Given the description of an element on the screen output the (x, y) to click on. 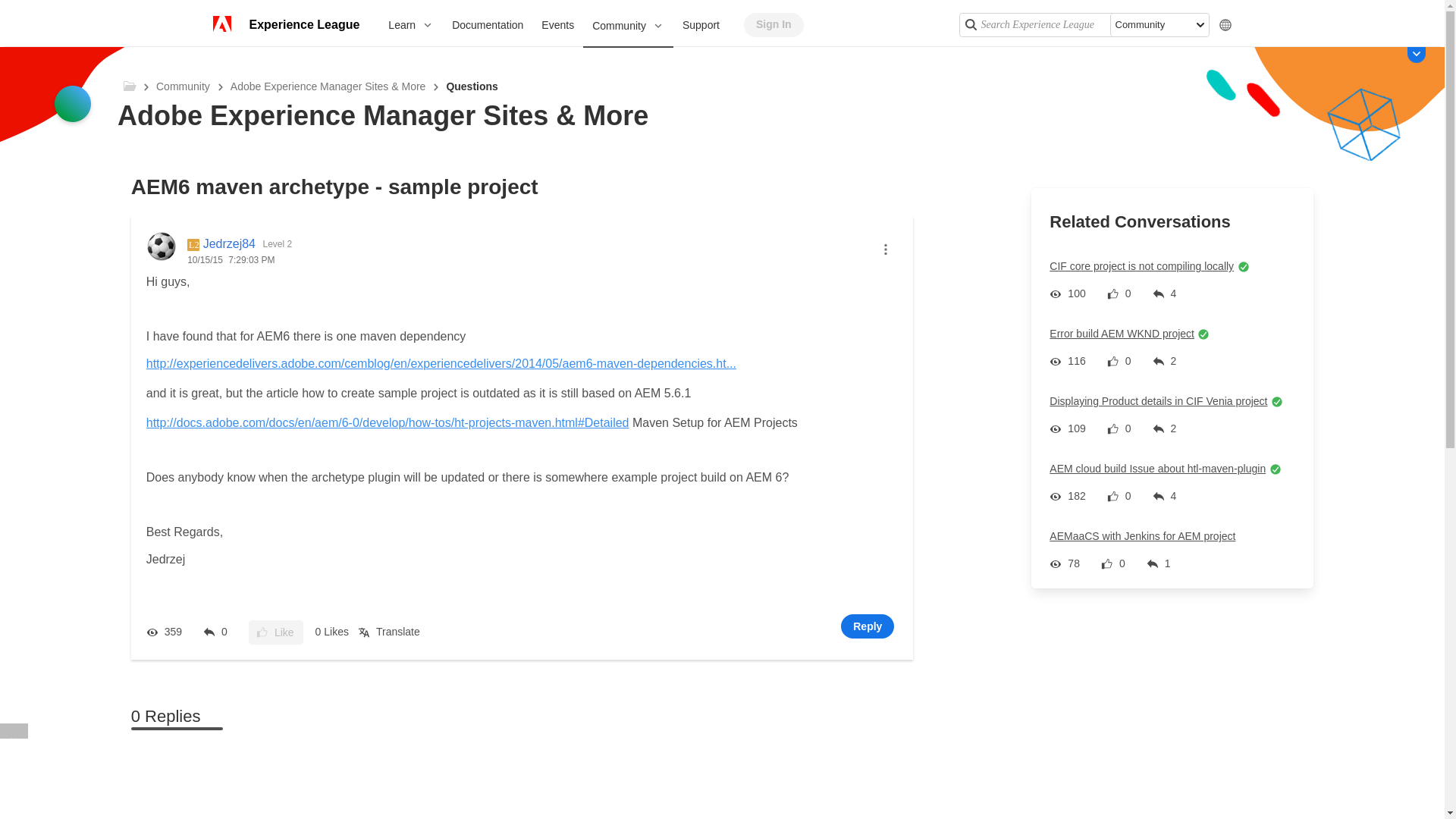
Experience League (304, 24)
Learn (410, 24)
Experience League (304, 24)
Search (969, 24)
Learn (410, 24)
Documentation (487, 24)
Community (627, 25)
Events (557, 24)
